Given the description of an element on the screen output the (x, y) to click on. 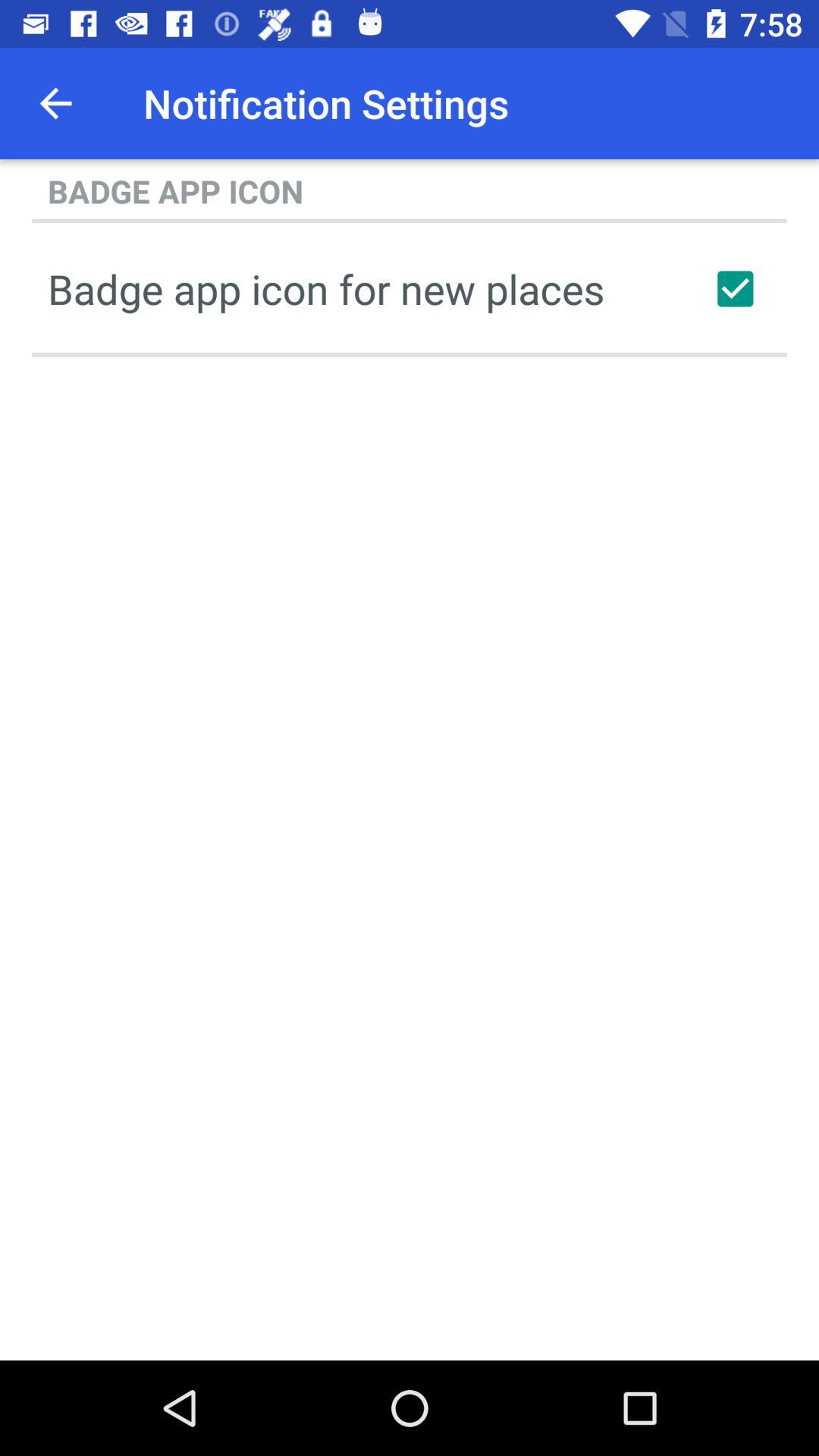
open the icon at the top left corner (55, 103)
